Given the description of an element on the screen output the (x, y) to click on. 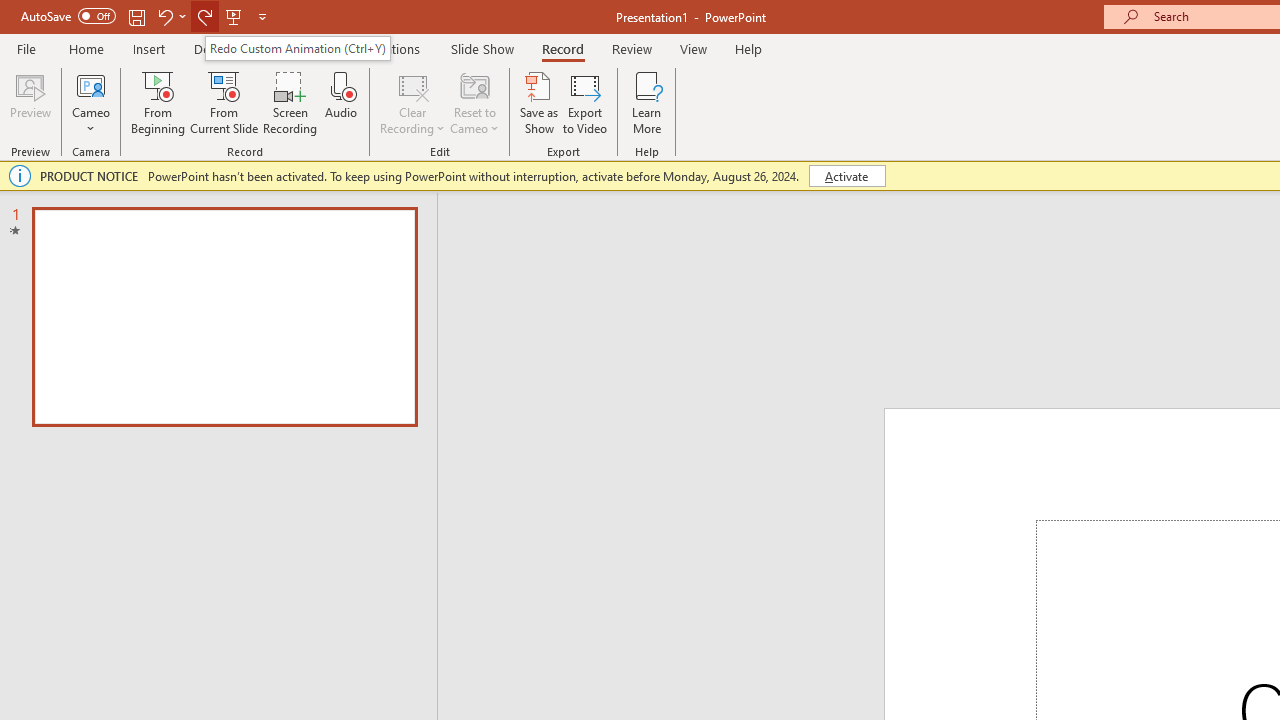
Save as Show (539, 102)
Clear Recording (412, 102)
From Beginning... (158, 102)
Audio (341, 102)
